Given the description of an element on the screen output the (x, y) to click on. 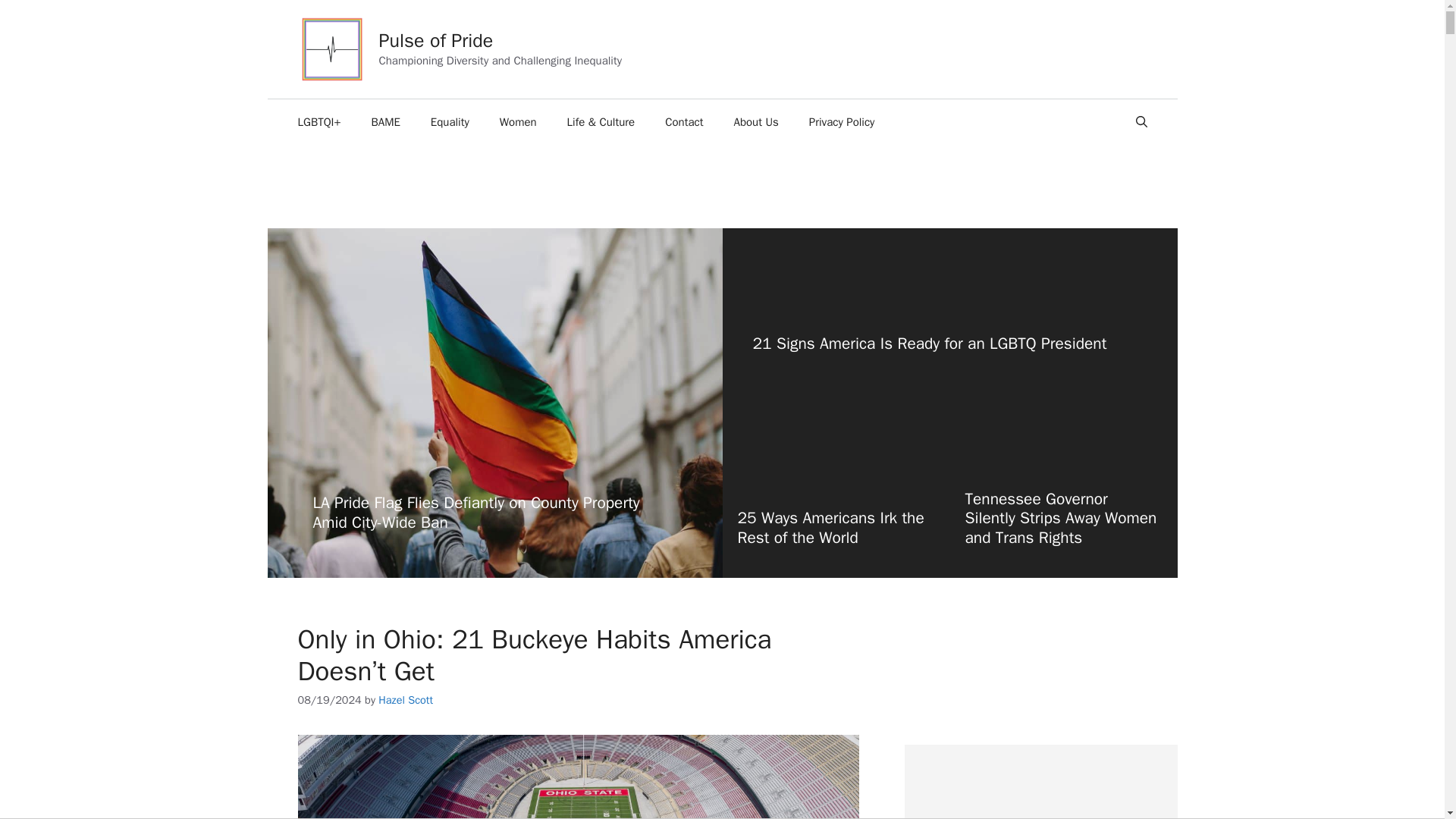
Pulse of Pride (435, 40)
Hazel Scott (405, 699)
Women (517, 121)
25 Ways Americans Irk the Rest of the World (829, 527)
About Us (756, 121)
21 Signs America Is Ready for an LGBTQ President (929, 342)
Privacy Policy (841, 121)
BAME (384, 121)
Contact (683, 121)
